Given the description of an element on the screen output the (x, y) to click on. 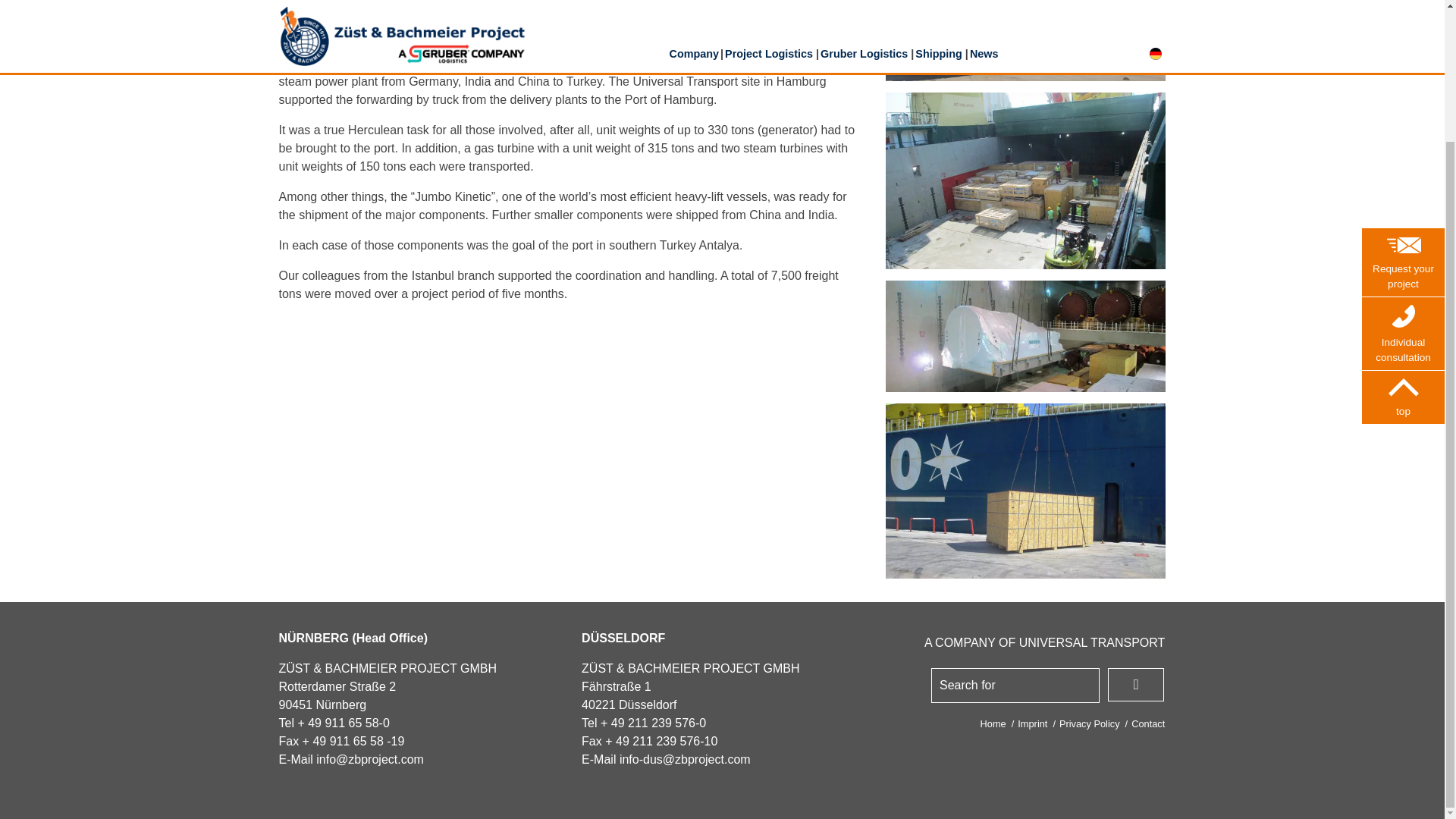
Privacy Policy (1089, 723)
49 911 65 58-0 (348, 722)
Contact (1147, 723)
Search for (1015, 685)
Home (992, 723)
Imprint (1031, 723)
49 211 239 576-0 (658, 722)
A COMPANY OF UNIVERSAL TRANSPORT (1044, 642)
Search (1136, 684)
